Given the description of an element on the screen output the (x, y) to click on. 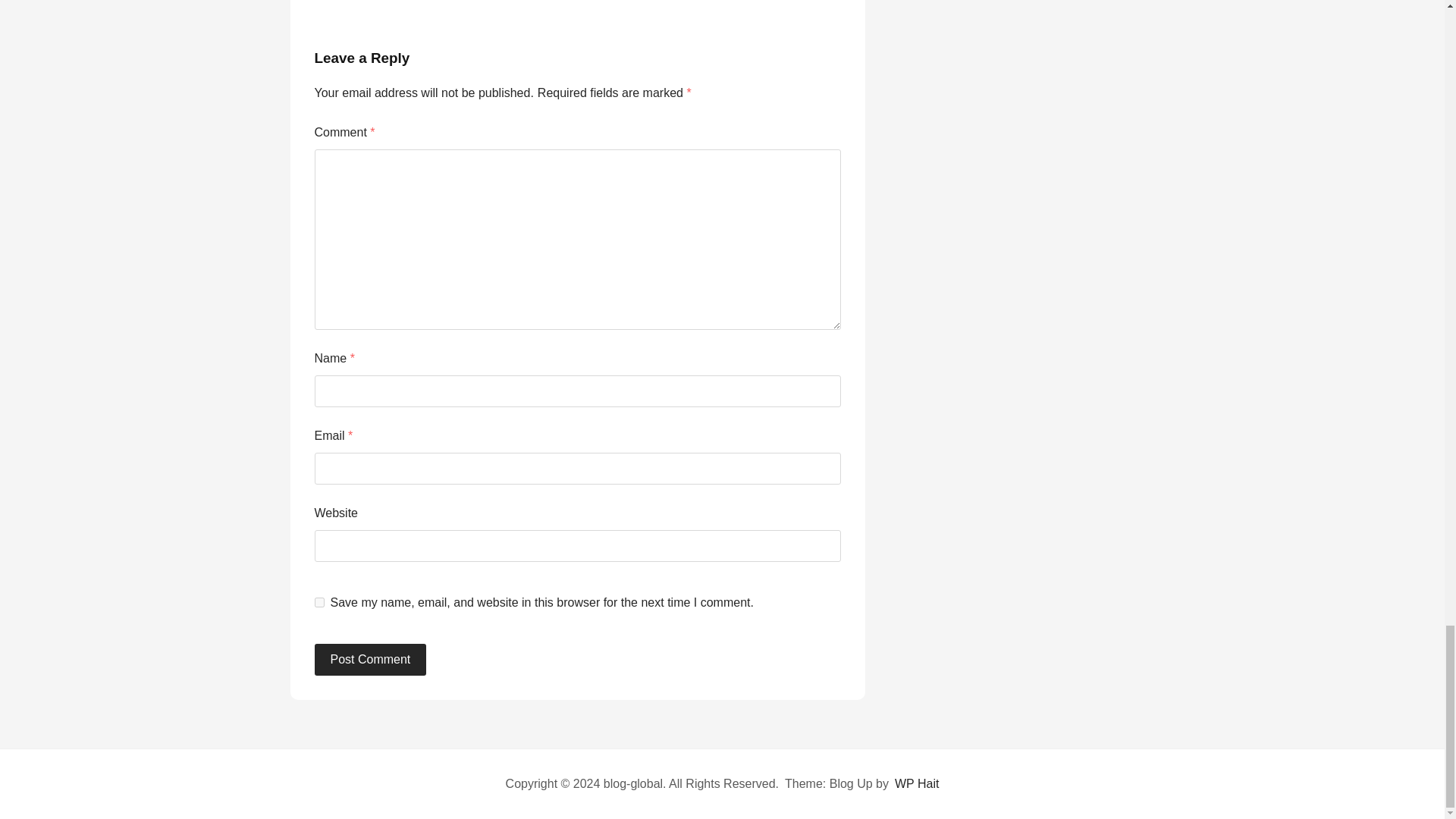
yes (318, 602)
Post Comment (370, 659)
Post Comment (370, 659)
